Given the description of an element on the screen output the (x, y) to click on. 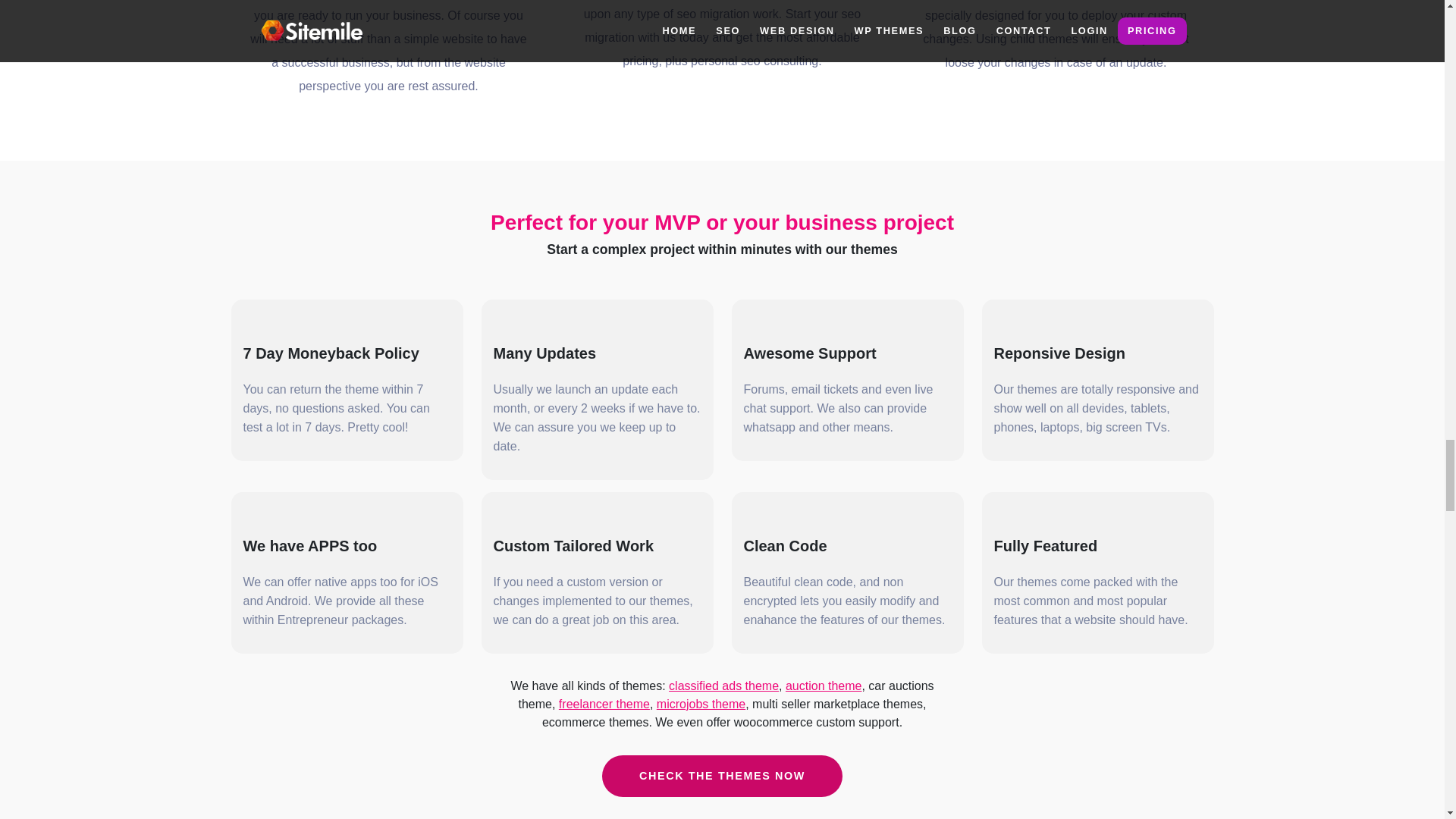
CHECK THE THEMES NOW (722, 776)
auction theme (823, 685)
microjobs theme (700, 703)
freelancer theme (604, 703)
classified ads theme (723, 685)
